Given the description of an element on the screen output the (x, y) to click on. 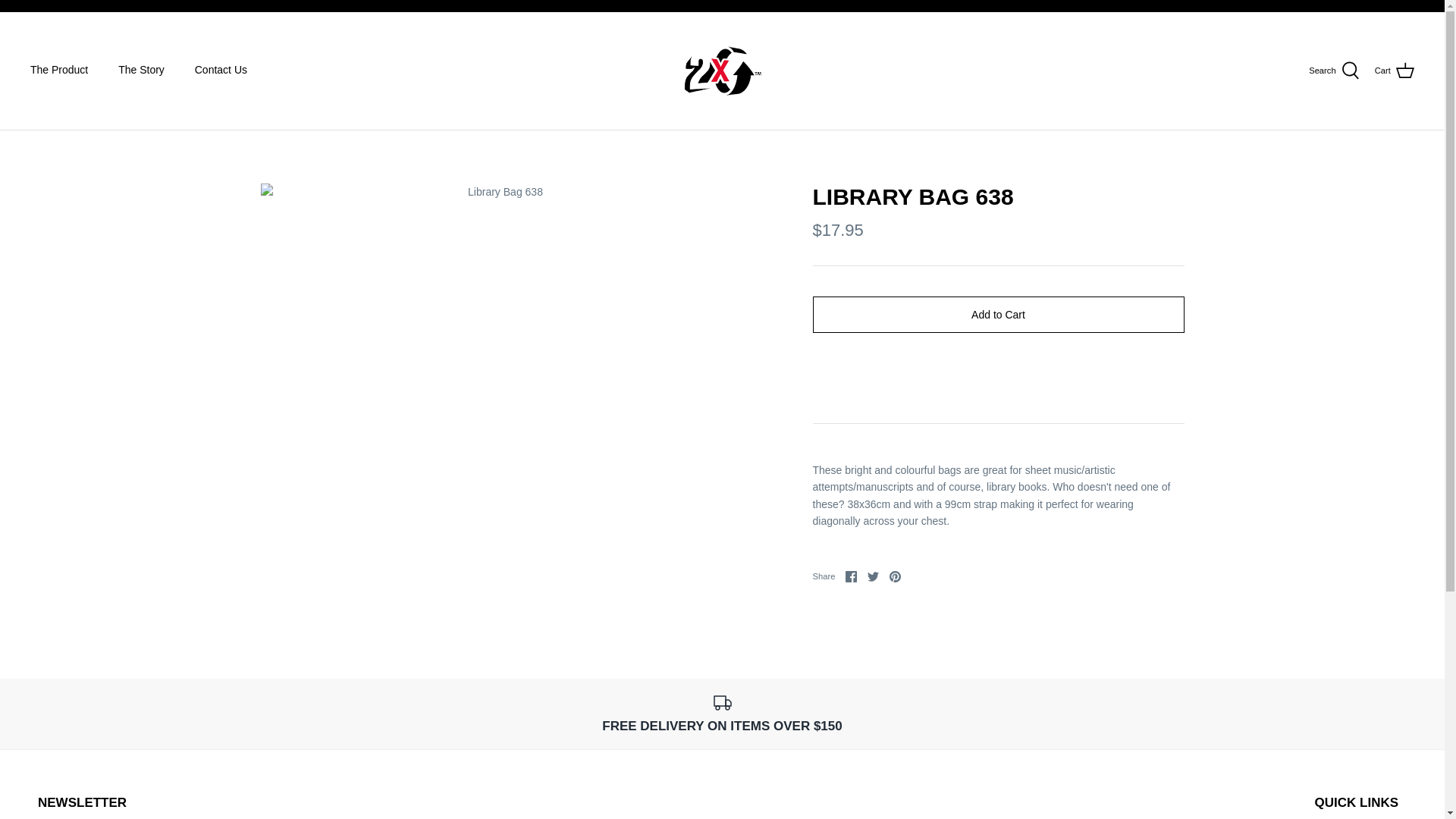
Add to Cart (998, 314)
Contact Us (220, 69)
Add to Cart (998, 314)
Search (1333, 70)
Facebook (851, 576)
Twitter (873, 576)
2xO (721, 70)
Pinterest (895, 576)
The Story (140, 69)
The Product (873, 576)
Cart (895, 576)
